Given the description of an element on the screen output the (x, y) to click on. 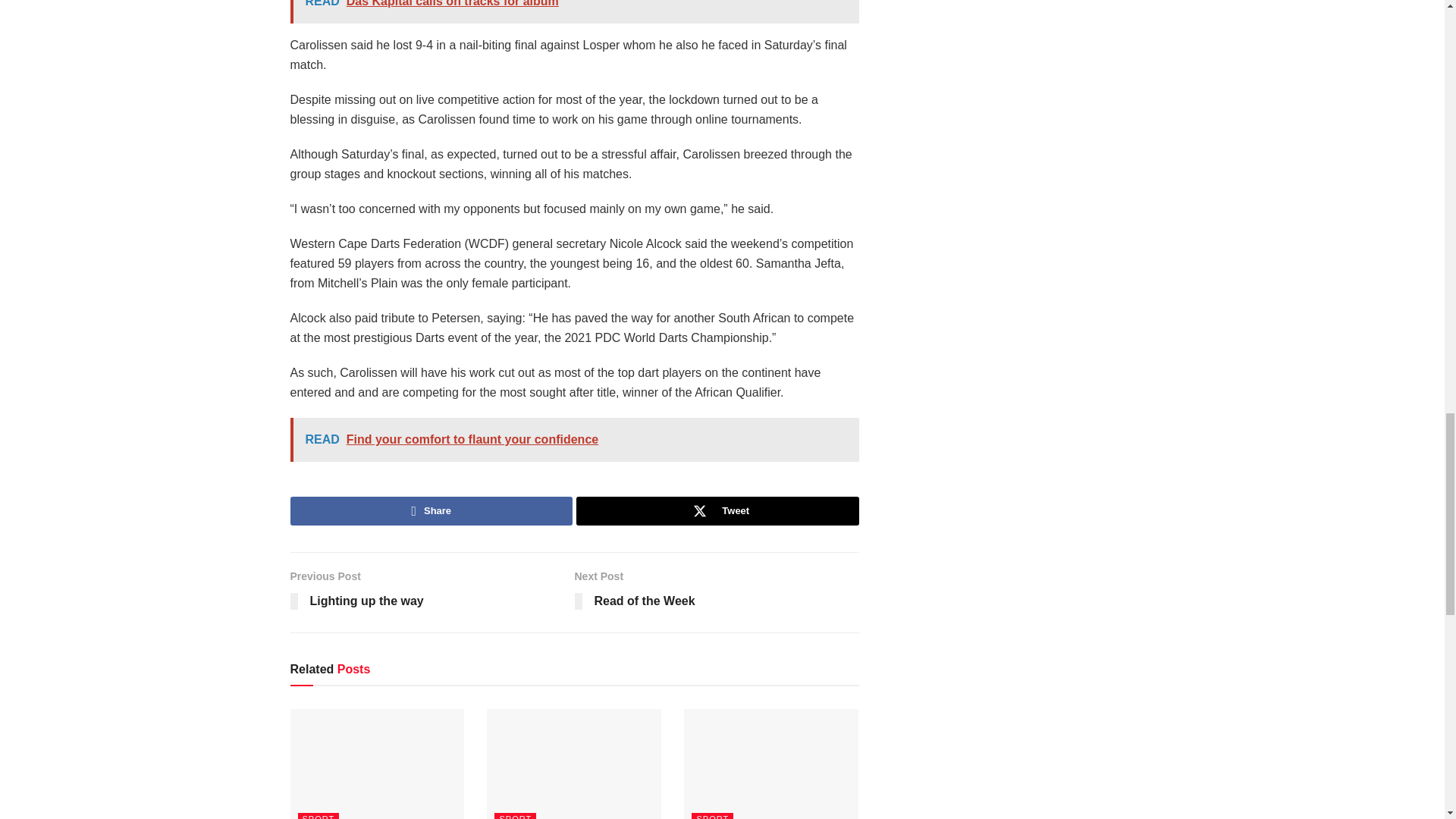
READ  Das Kapital calls on tracks for album (574, 11)
